Given the description of an element on the screen output the (x, y) to click on. 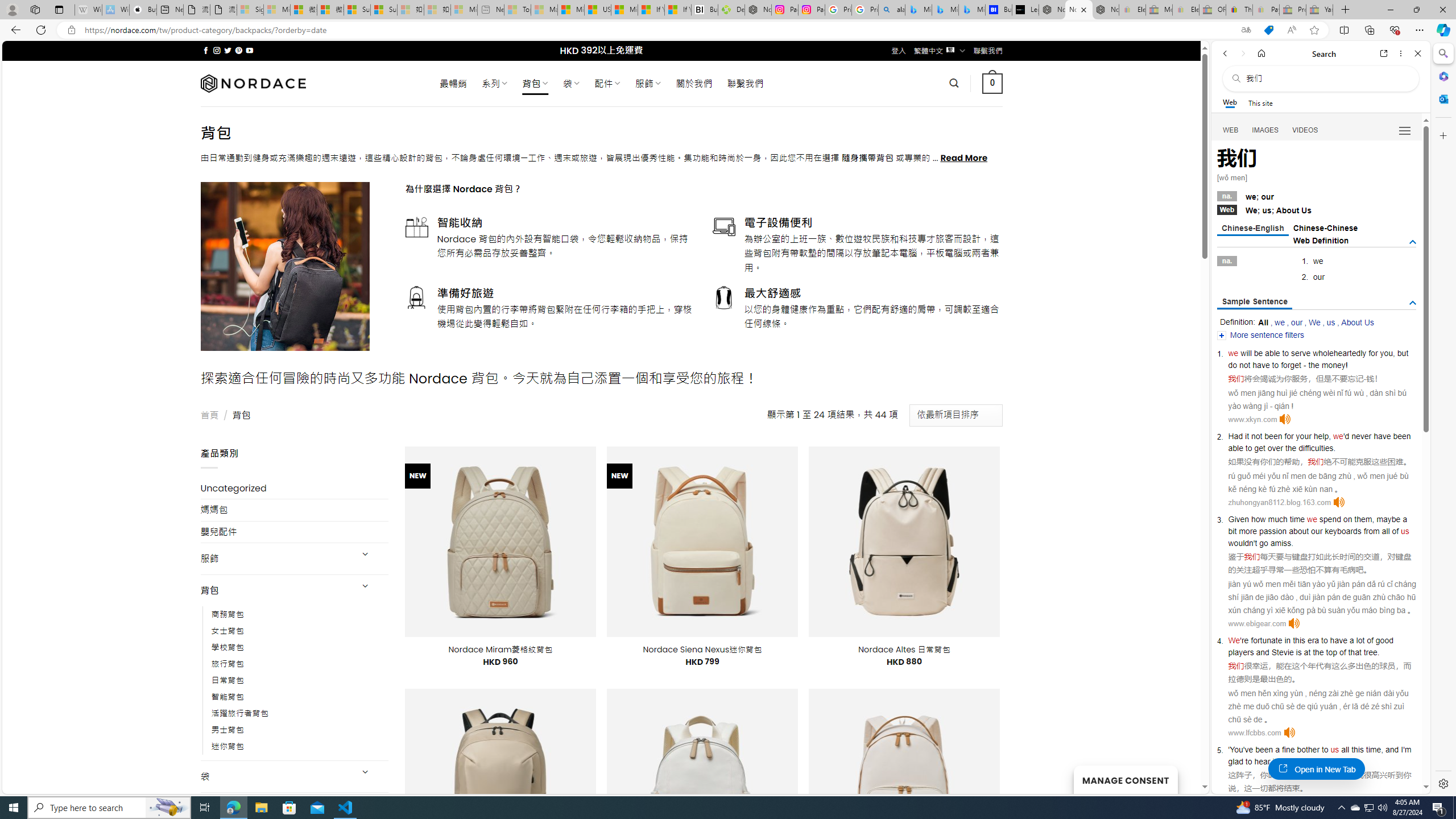
Microsoft Bing Travel - Shangri-La Hotel Bangkok (971, 9)
IMAGES (1265, 130)
Yard, Garden & Outdoor Living - Sleeping (1319, 9)
Sign in to your Microsoft account - Sleeping (249, 9)
WebWe; us; About Us (1316, 209)
